Given the description of an element on the screen output the (x, y) to click on. 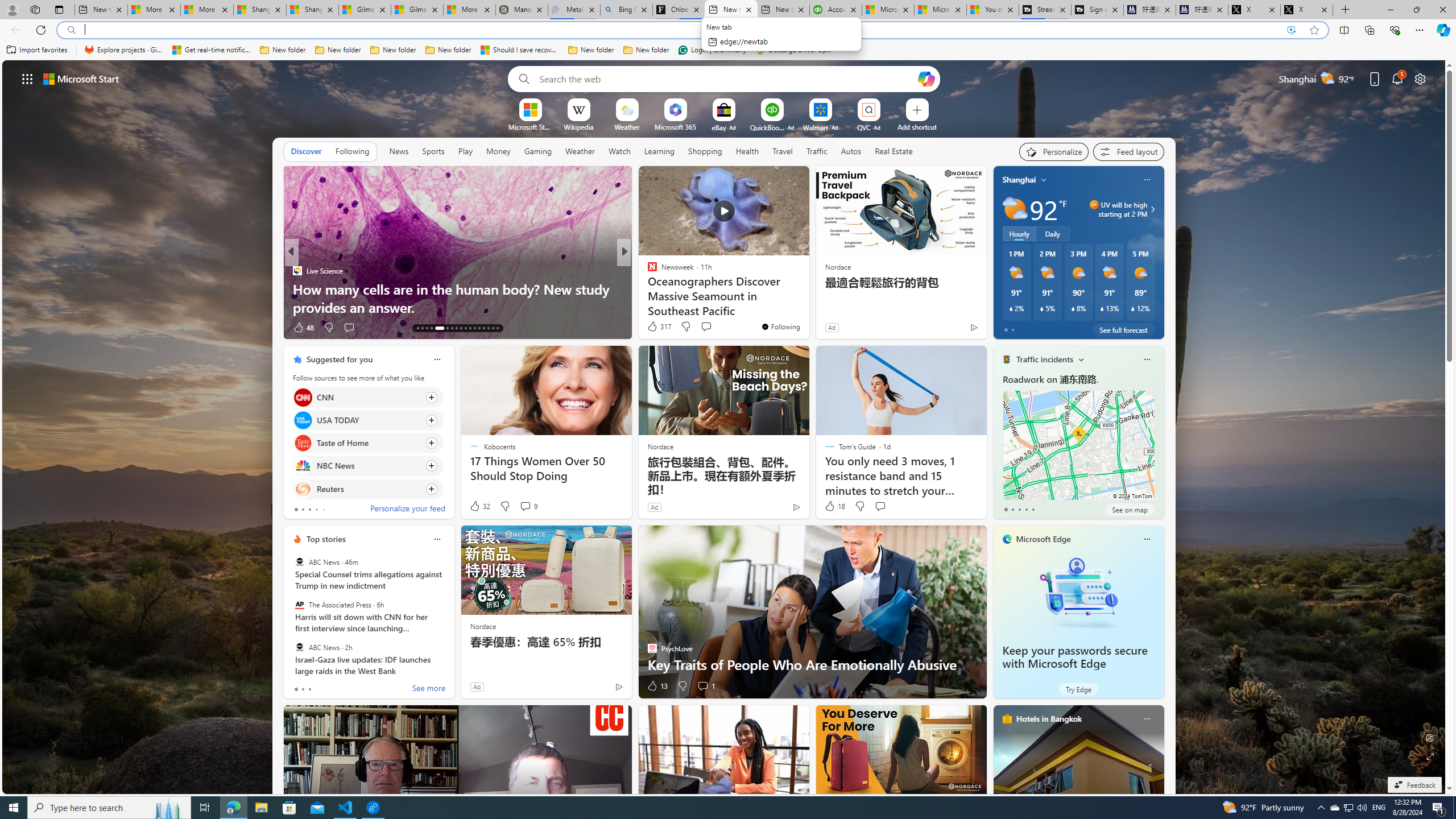
News (398, 151)
View comments 297 Comment (709, 327)
tab-0 (295, 689)
App launcher (27, 78)
Work From Home With Surveys (807, 307)
Class: weather-arrow-glyph (1152, 208)
CNN (302, 397)
